Given the description of an element on the screen output the (x, y) to click on. 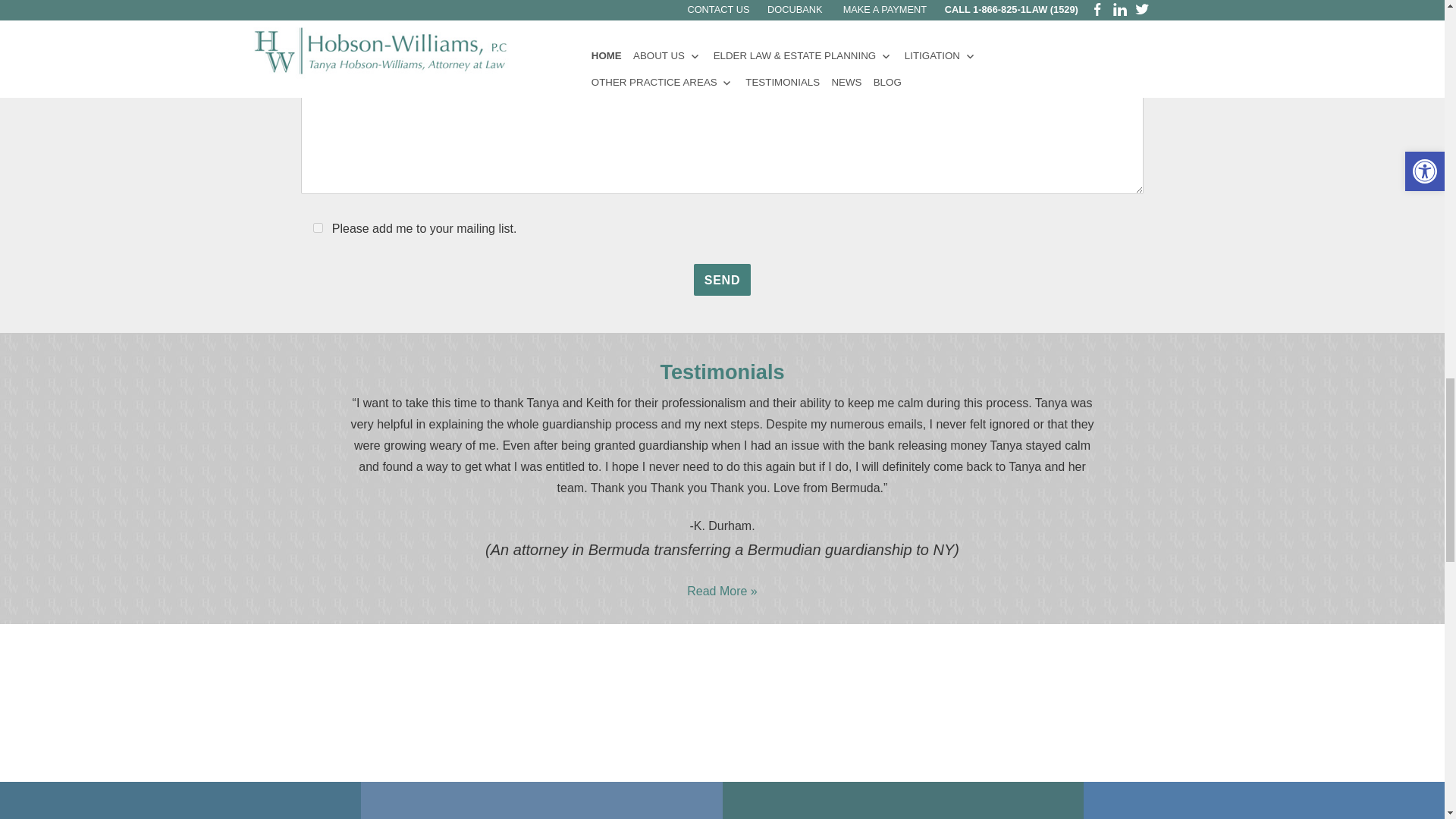
1 (318, 227)
Send (722, 279)
YouTube player (606, 692)
Elder Law Attorney Serving Queens Bronx Brooklyn (177, 814)
YouTube player (1088, 692)
YouTube player (126, 692)
Guardianships Attorney Serving Queens Bronx Brooklyn (538, 814)
